Given the description of an element on the screen output the (x, y) to click on. 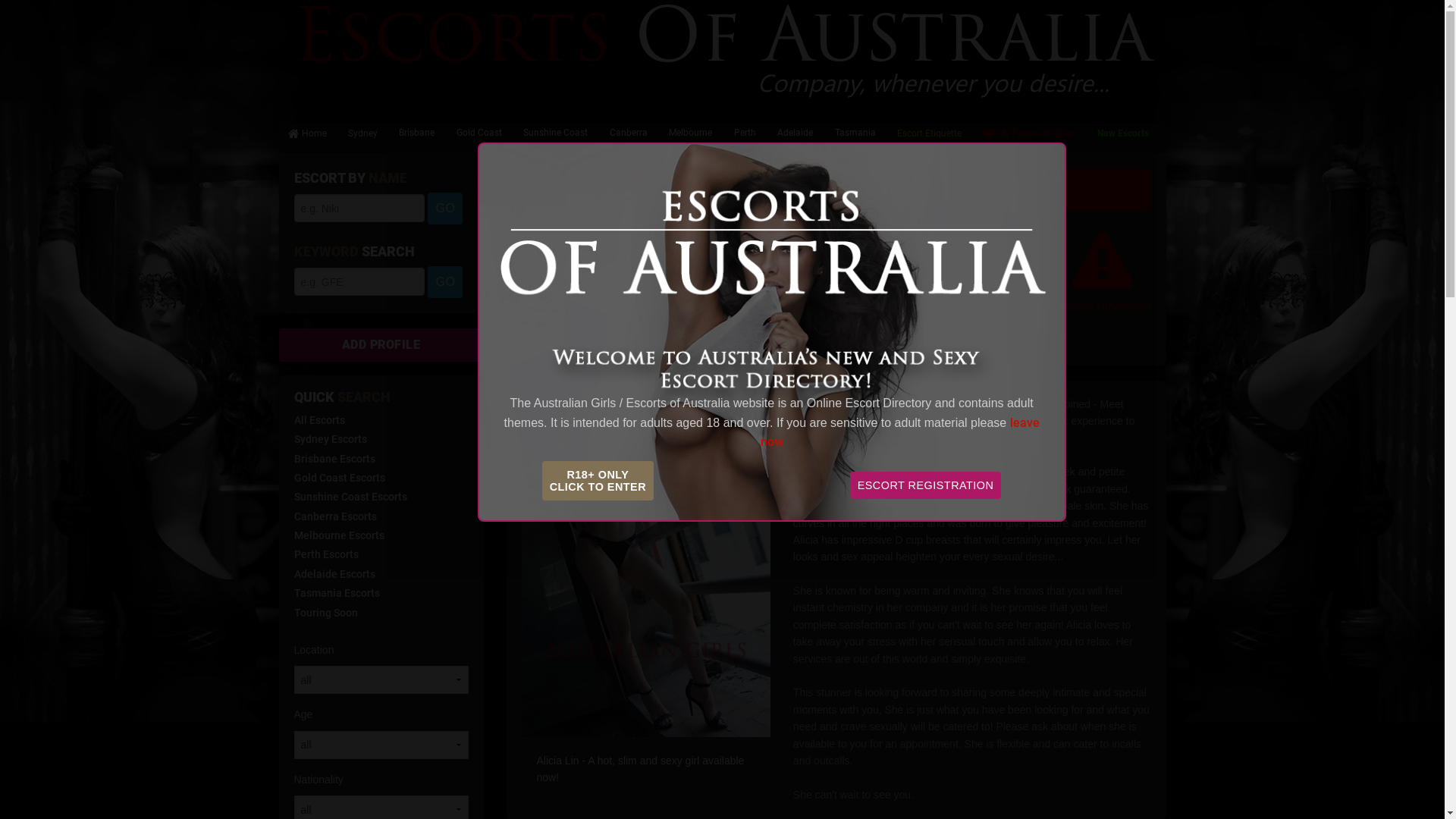
Escorts Of Australia
Company, whenever you desire... Element type: text (722, 51)
 Home Element type: text (307, 133)
Currently Away, find more Escorts from Sydney here Element type: text (836, 189)
Tasmania Escorts Element type: text (336, 592)
 My Favourite Girls Element type: text (1027, 133)
leave now Element type: text (899, 432)
Sydney Escorts Element type: text (330, 439)
Sunshine Coast Escorts Element type: text (350, 496)
Go Element type: text (444, 208)
R18+ ONLY
CLICK TO ENTER Element type: text (597, 480)
Brisbane Escorts Element type: text (334, 458)
Touring Soon Element type: text (325, 612)
 New Escorts Element type: text (1121, 135)
Go Element type: text (444, 282)
Perth Escorts Element type: text (326, 554)
Adelaide Escorts Element type: text (334, 573)
ADD PROFILE Element type: text (381, 344)
Gold Coast Escorts Element type: text (339, 477)
Melbourne Escorts Element type: text (339, 535)
Canberra Escorts Element type: text (335, 516)
ESCORT REGISTRATION Element type: text (925, 484)
All Escorts Element type: text (319, 420)
